Given the description of an element on the screen output the (x, y) to click on. 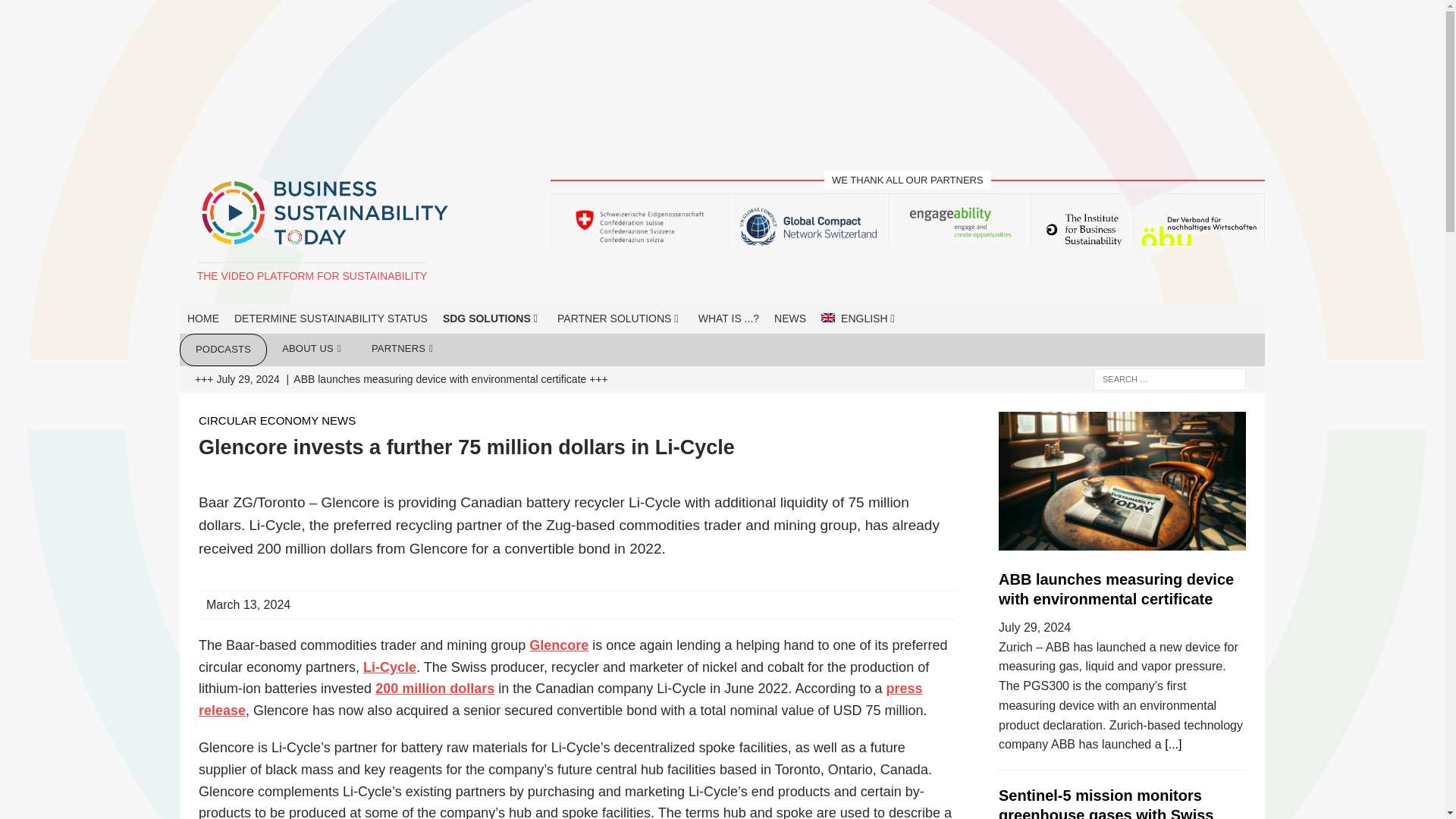
Business Sustainability Today (312, 275)
i4n Award (722, 74)
Schweizerische Eidgenossenschaft (639, 226)
logo-1300 (325, 213)
THE VIDEO PLATFORM FOR SUSTAINABILITY (312, 275)
engageabiliby (959, 223)
Global Compact Switzerland (809, 226)
The Institute for Business Sustainability IBS (1082, 229)
